Given the description of an element on the screen output the (x, y) to click on. 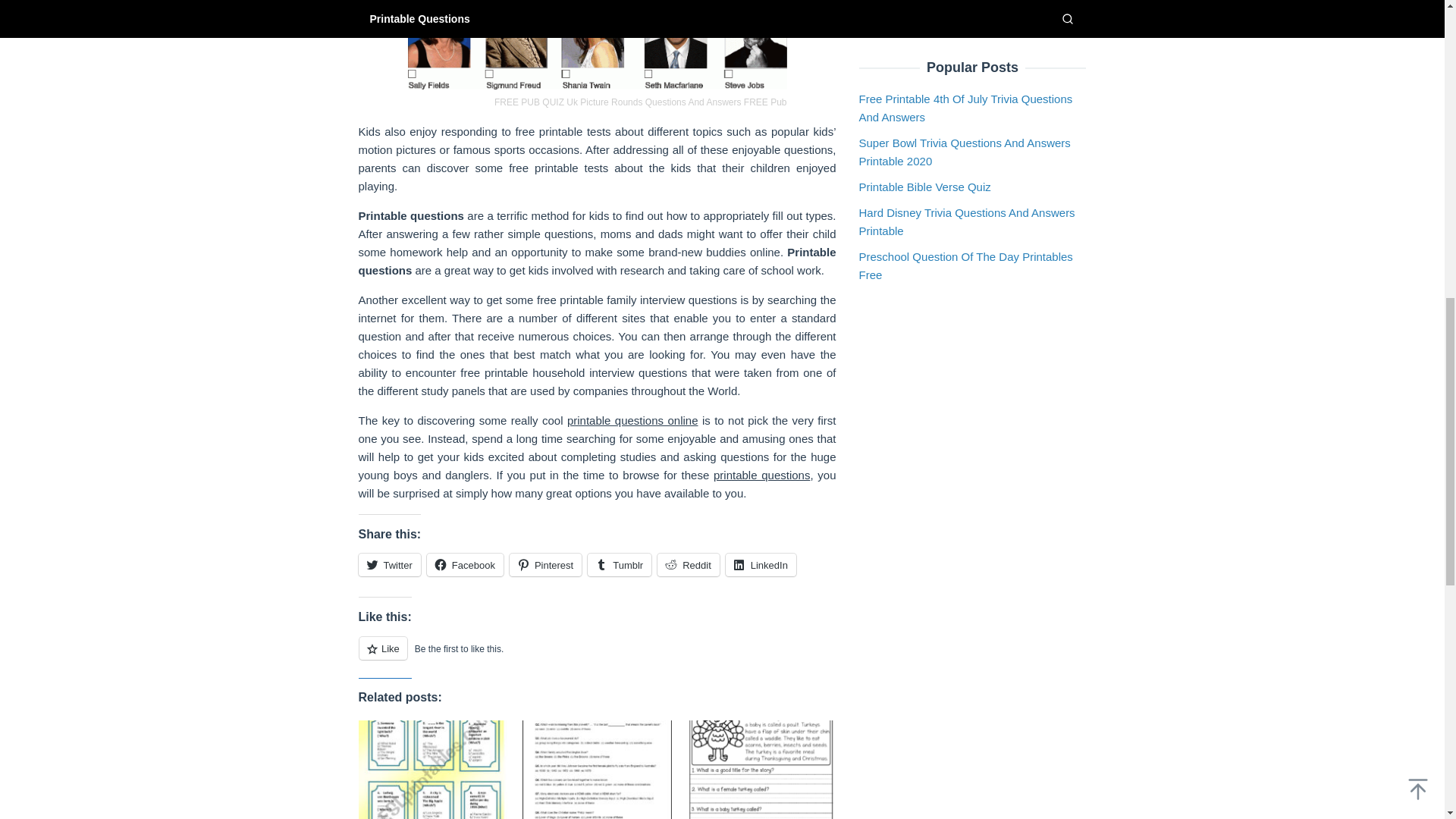
Reddit (688, 564)
Click to share on Pinterest (544, 564)
Facebook (464, 564)
Tumblr (619, 564)
Twitter (389, 564)
Click to share on Twitter (389, 564)
Like or Reblog (596, 657)
Click to share on LinkedIn (760, 564)
Click to share on Reddit (688, 564)
Pinterest (544, 564)
Click to share on Facebook (464, 564)
Click to share on Tumblr (619, 564)
LinkedIn (760, 564)
